Given the description of an element on the screen output the (x, y) to click on. 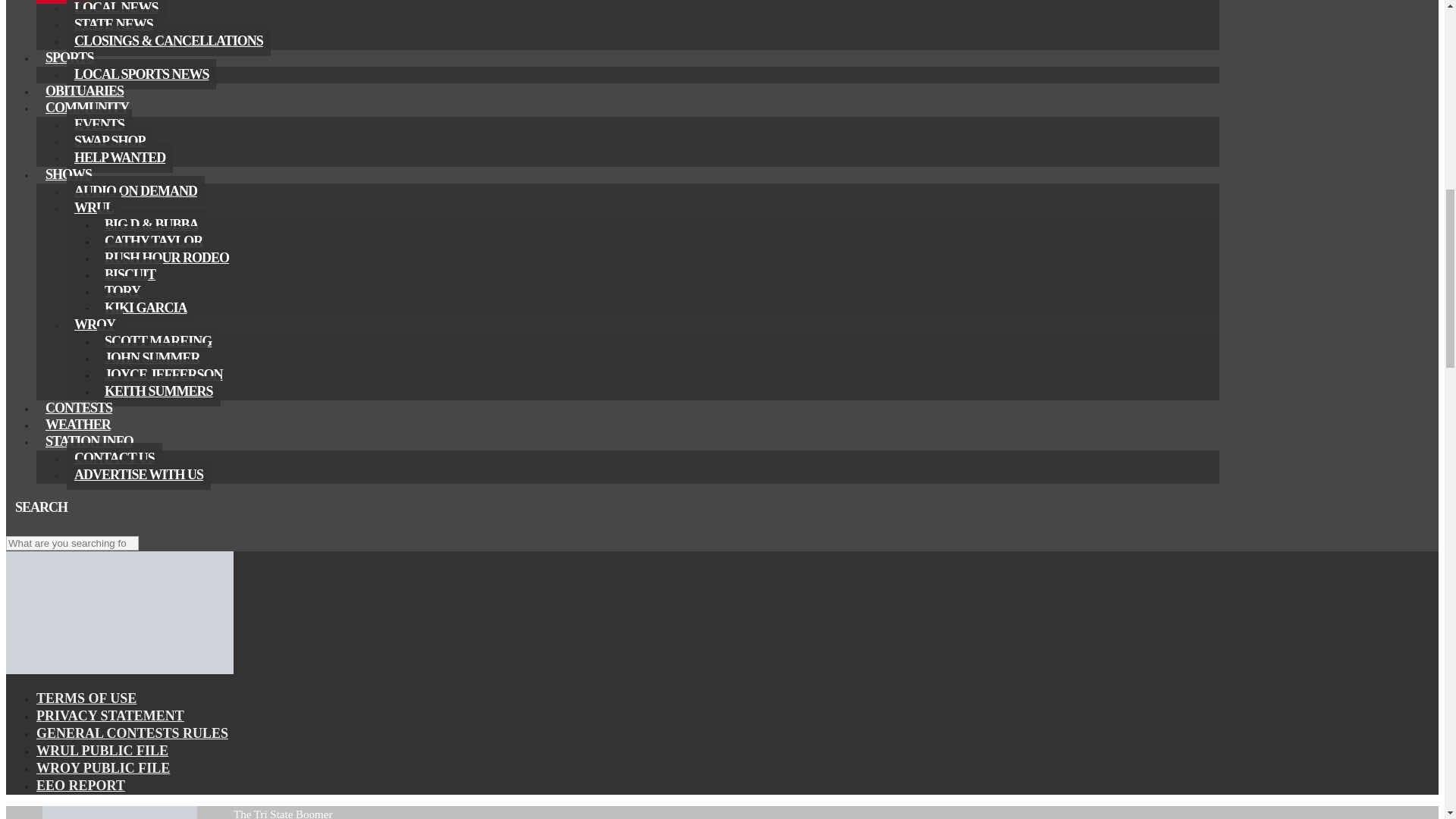
NEWS (63, 2)
Follow us on Soundcloud (51, 526)
Search for: (71, 543)
Follow us on Facebook (14, 526)
WRUL-FM (118, 670)
Follow us on X (33, 526)
Listen on TuneIn (69, 526)
